Given the description of an element on the screen output the (x, y) to click on. 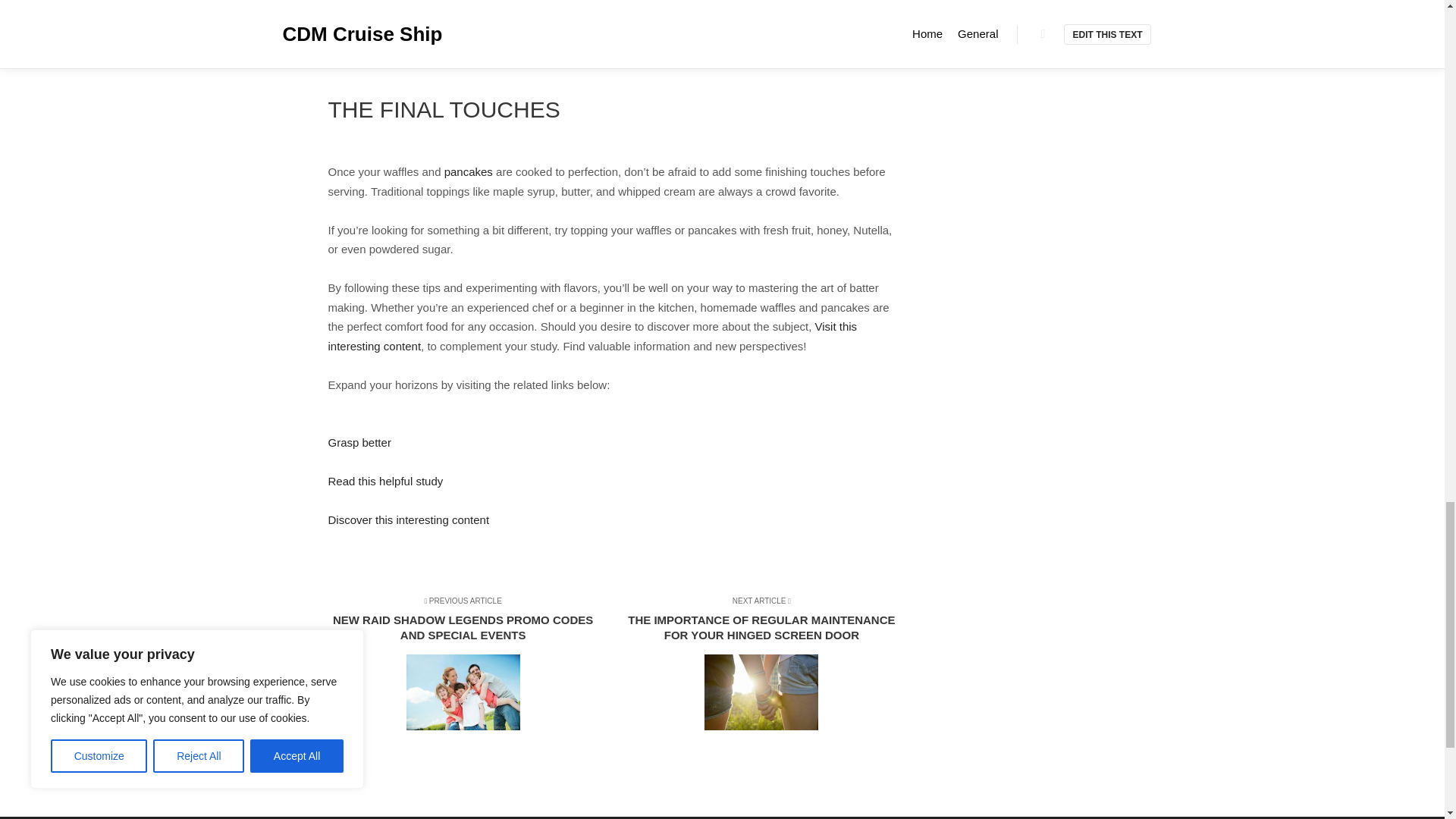
pancakes (468, 171)
Visit this interesting content (592, 336)
Grasp better (358, 441)
Discover this interesting content (408, 519)
Read this helpful study (384, 481)
